Given the description of an element on the screen output the (x, y) to click on. 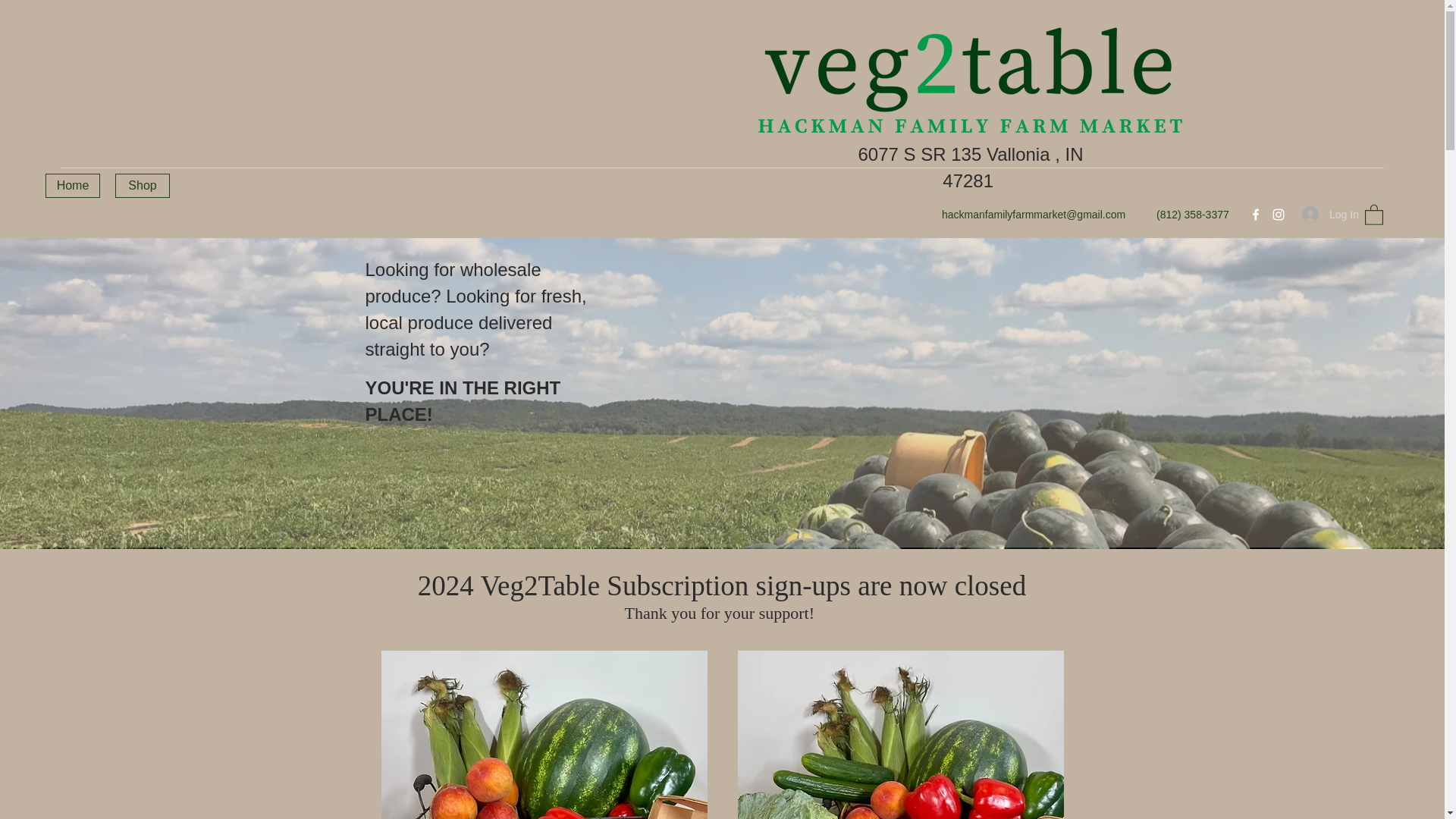
Home (342, 199)
Log In (1325, 214)
Home (72, 185)
Shop (386, 199)
Shop (142, 185)
